Given the description of an element on the screen output the (x, y) to click on. 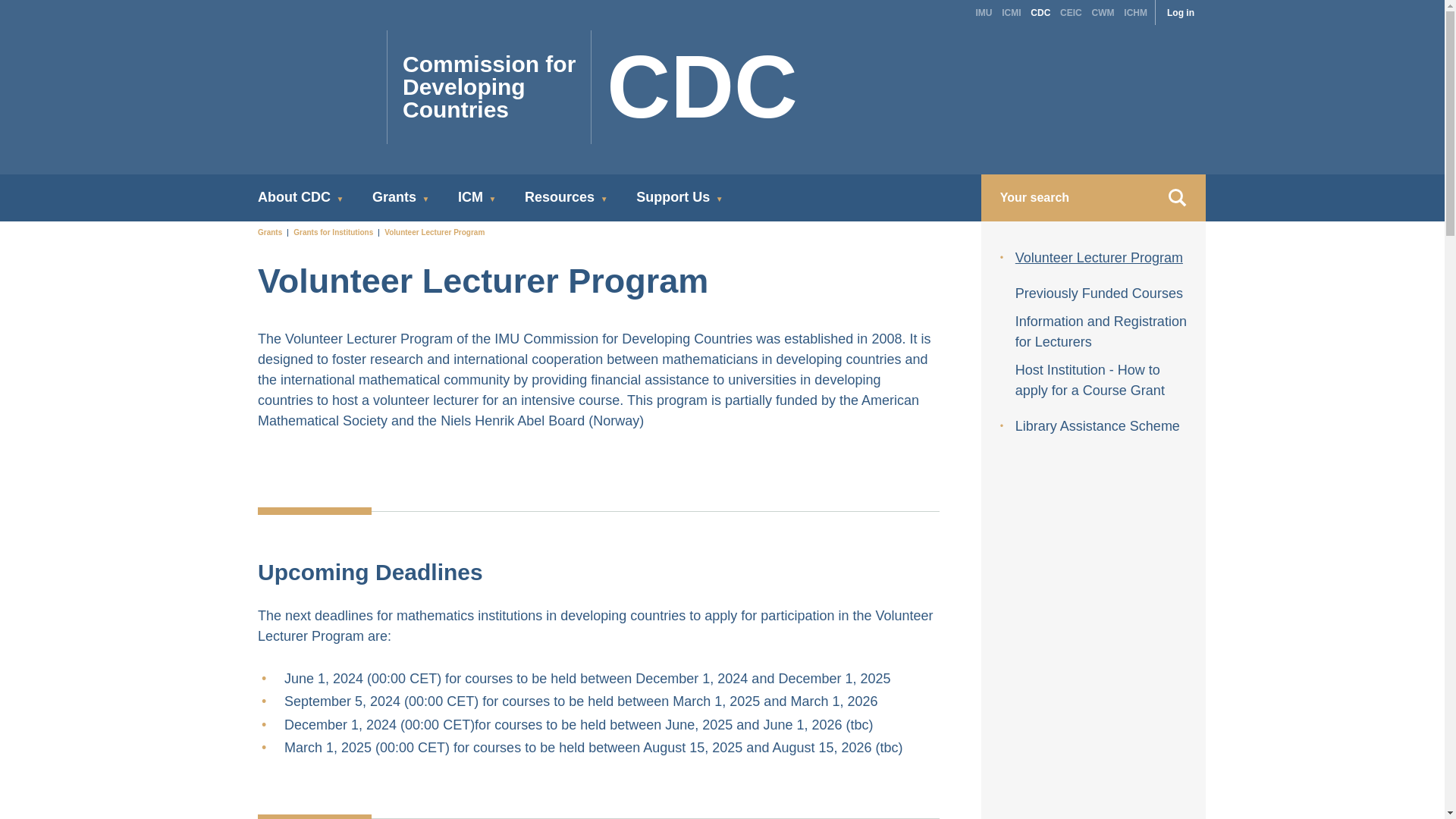
CWM (1102, 10)
ICHM (1135, 10)
CDC (1040, 10)
Log in (1180, 10)
CEIC (1071, 10)
ICMI (604, 87)
IMU (1011, 10)
Skip to main content (983, 10)
